Given the description of an element on the screen output the (x, y) to click on. 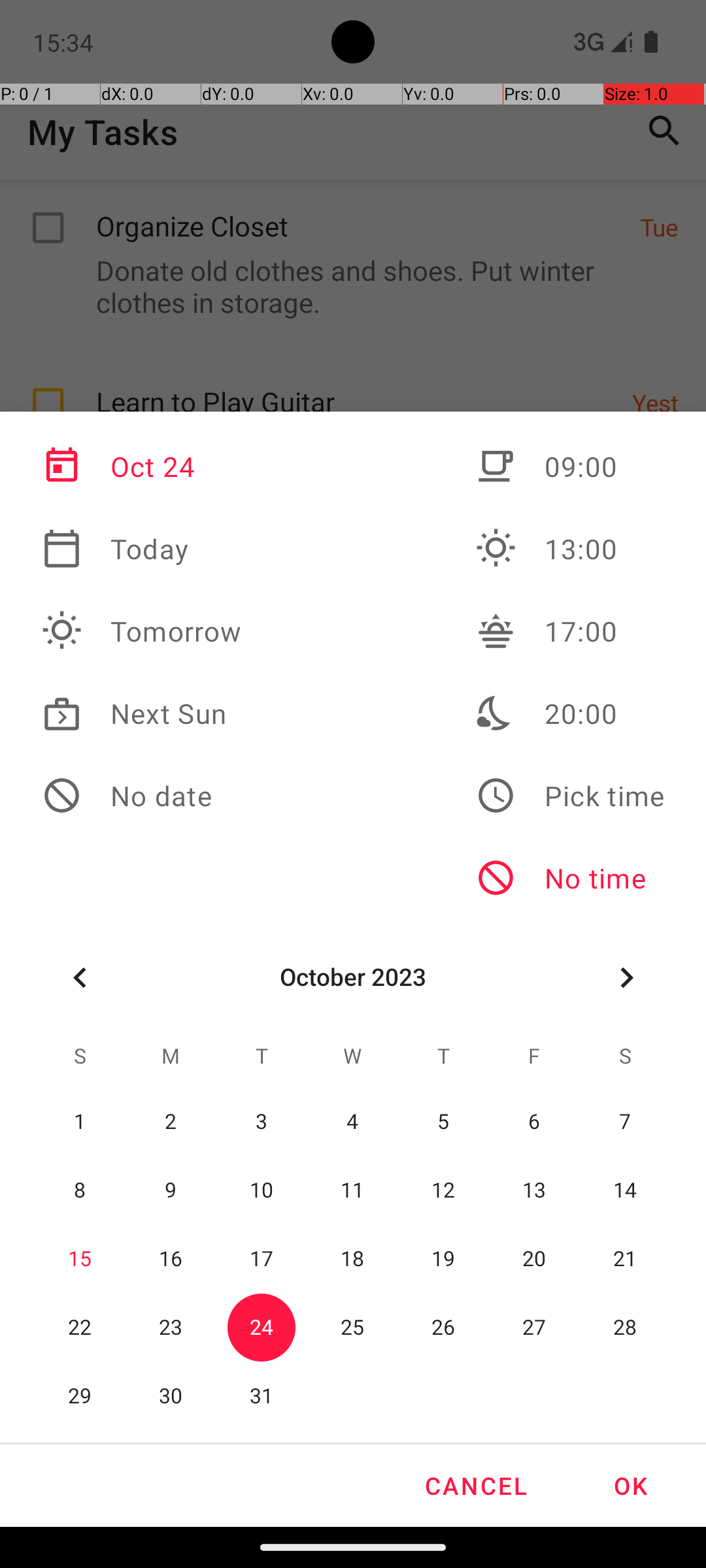
Oct 24 Element type: android.widget.CompoundButton (141, 466)
